Given the description of an element on the screen output the (x, y) to click on. 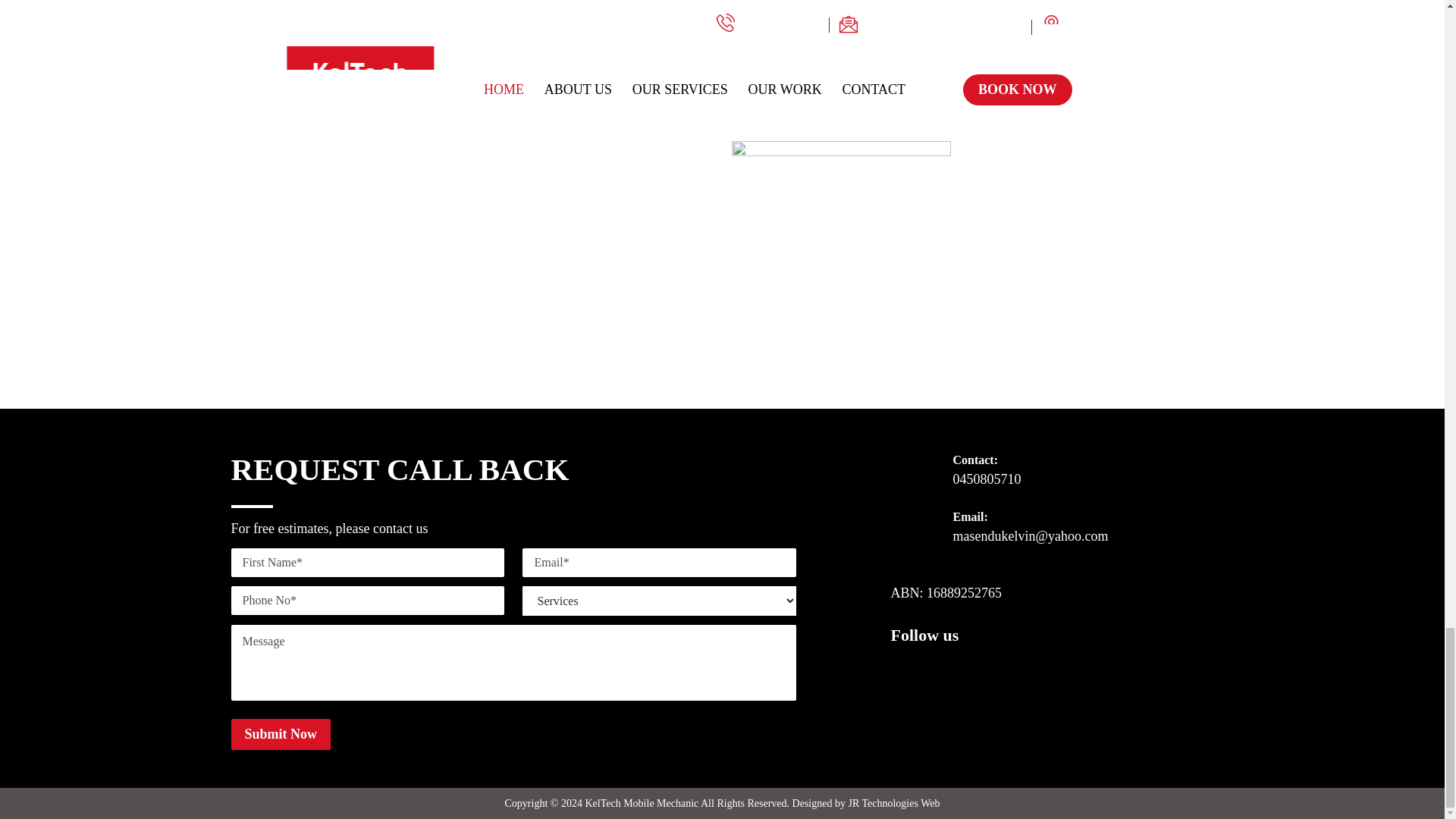
JR Technologies Web (893, 803)
Submit Now (280, 734)
0450805710 (986, 478)
Submit Now (280, 734)
